Given the description of an element on the screen output the (x, y) to click on. 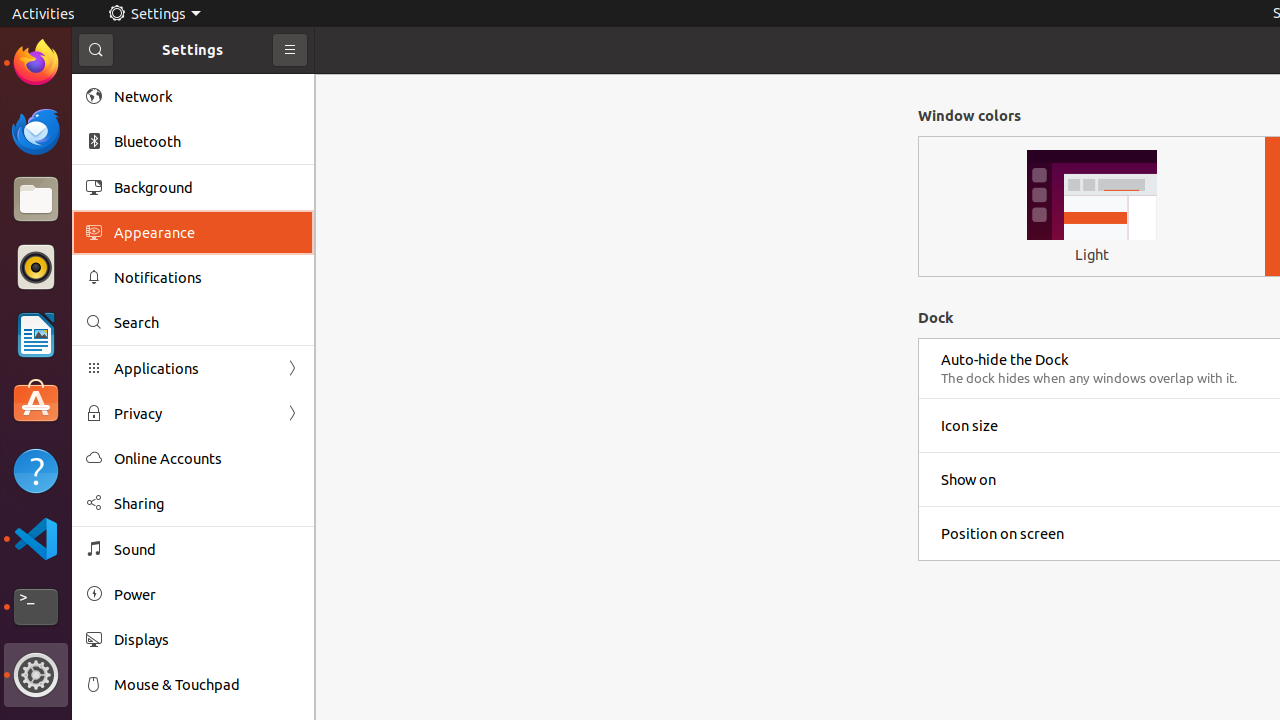
Bluetooth Element type: label (207, 141)
IsaHelpMain.desktop Element type: label (133, 300)
Terminal Element type: push-button (36, 607)
